Given the description of an element on the screen output the (x, y) to click on. 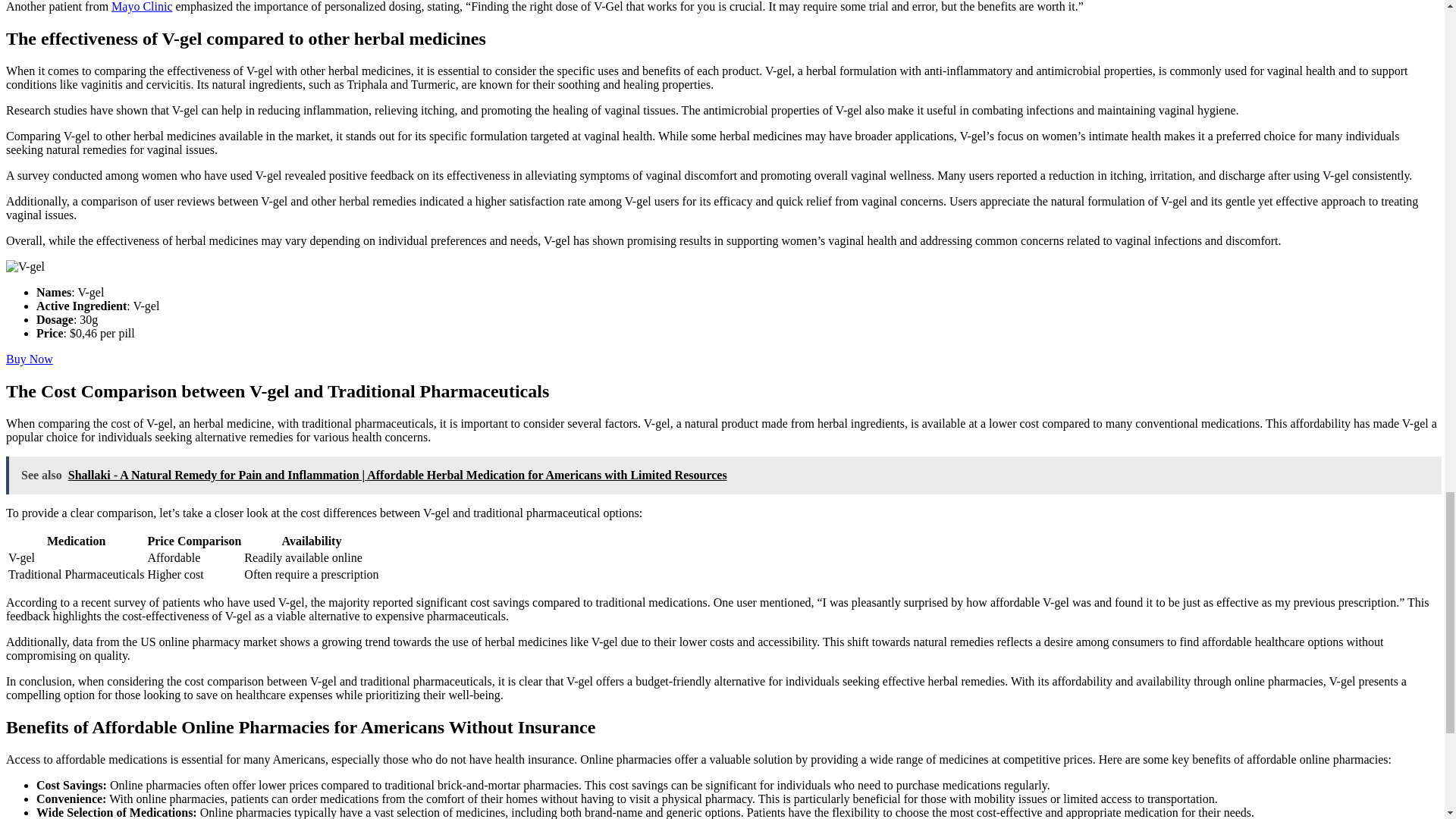
Mayo Clinic (141, 6)
Buy Now (28, 358)
Buy Now (28, 358)
